Given the description of an element on the screen output the (x, y) to click on. 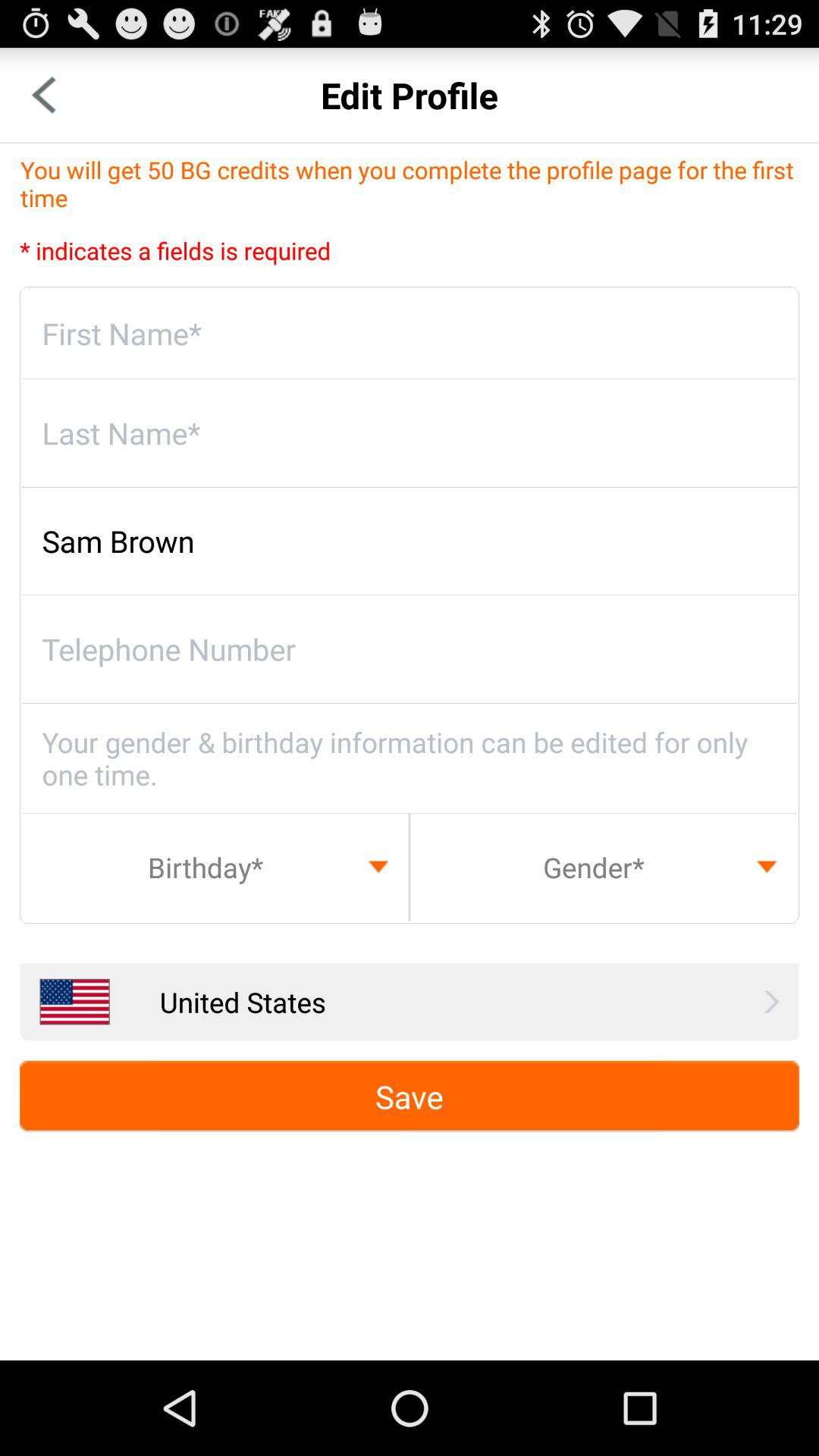
enter last name (409, 432)
